Given the description of an element on the screen output the (x, y) to click on. 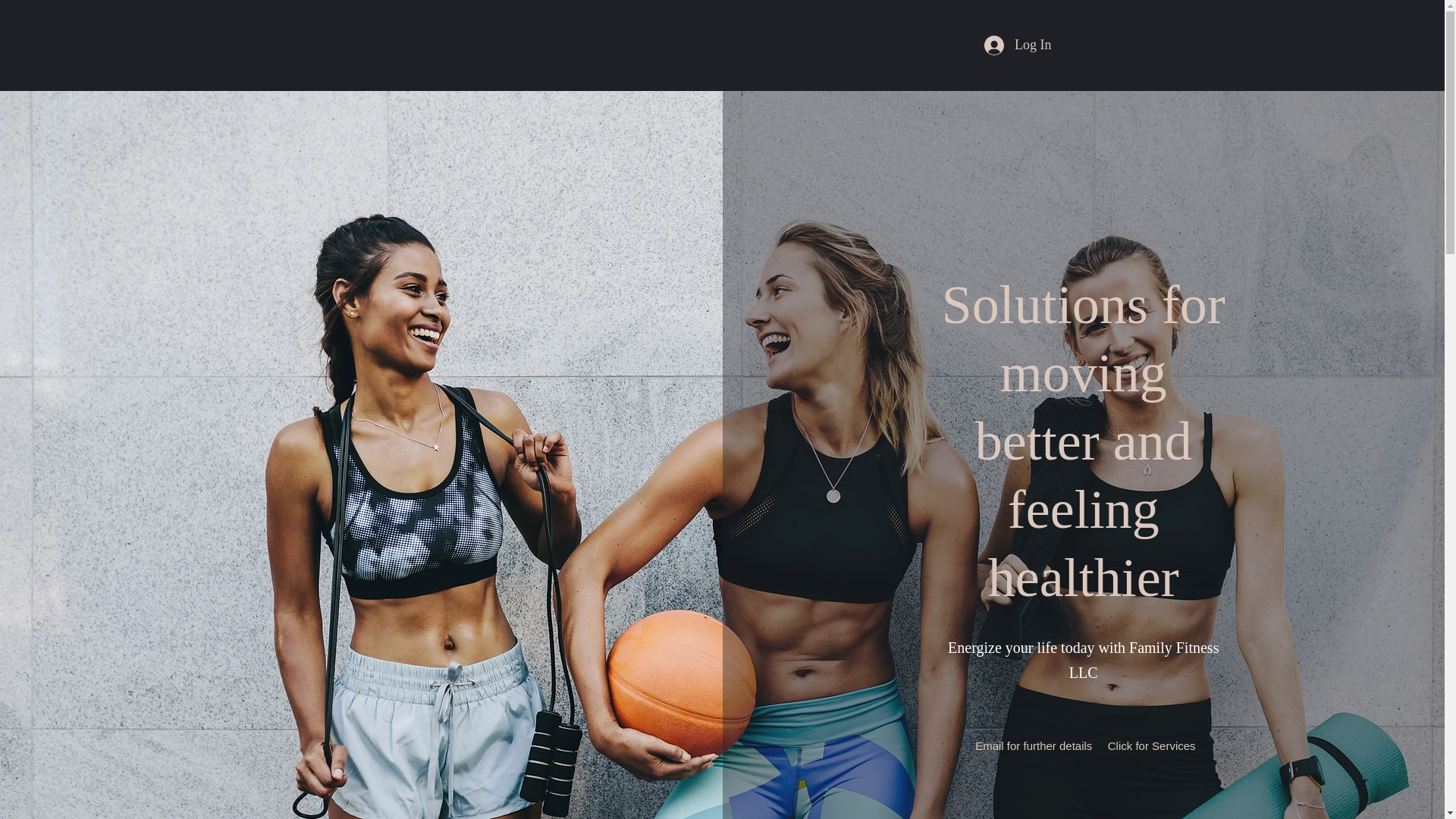
Email for further details (1034, 745)
Log In (1018, 45)
Click for Services (1151, 745)
